Given the description of an element on the screen output the (x, y) to click on. 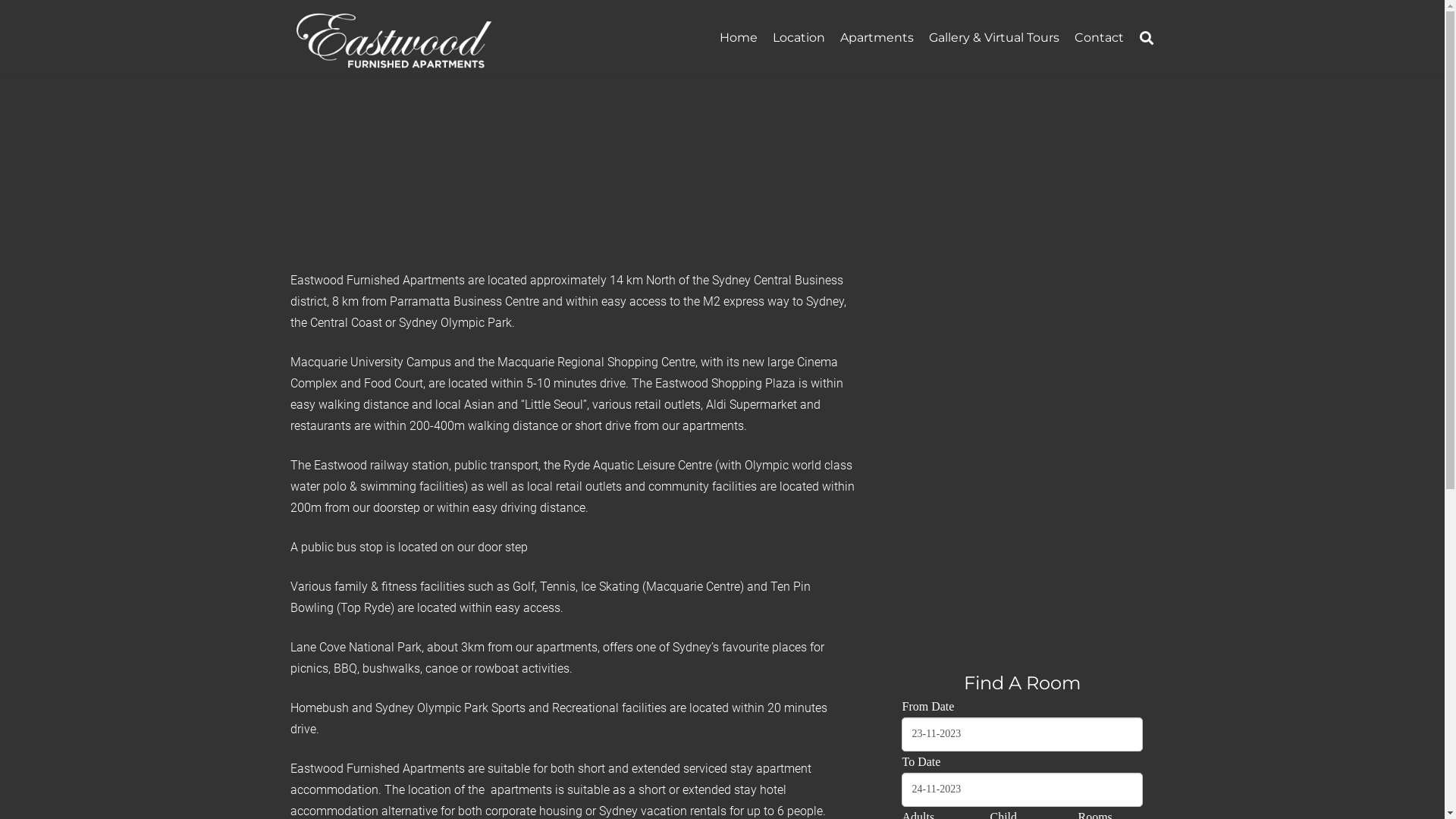
Home Element type: text (738, 37)
Location Element type: text (798, 37)
Gallery & Virtual Tours Element type: text (993, 37)
Apartments Element type: text (876, 37)
Contact Element type: text (1098, 37)
